Given the description of an element on the screen output the (x, y) to click on. 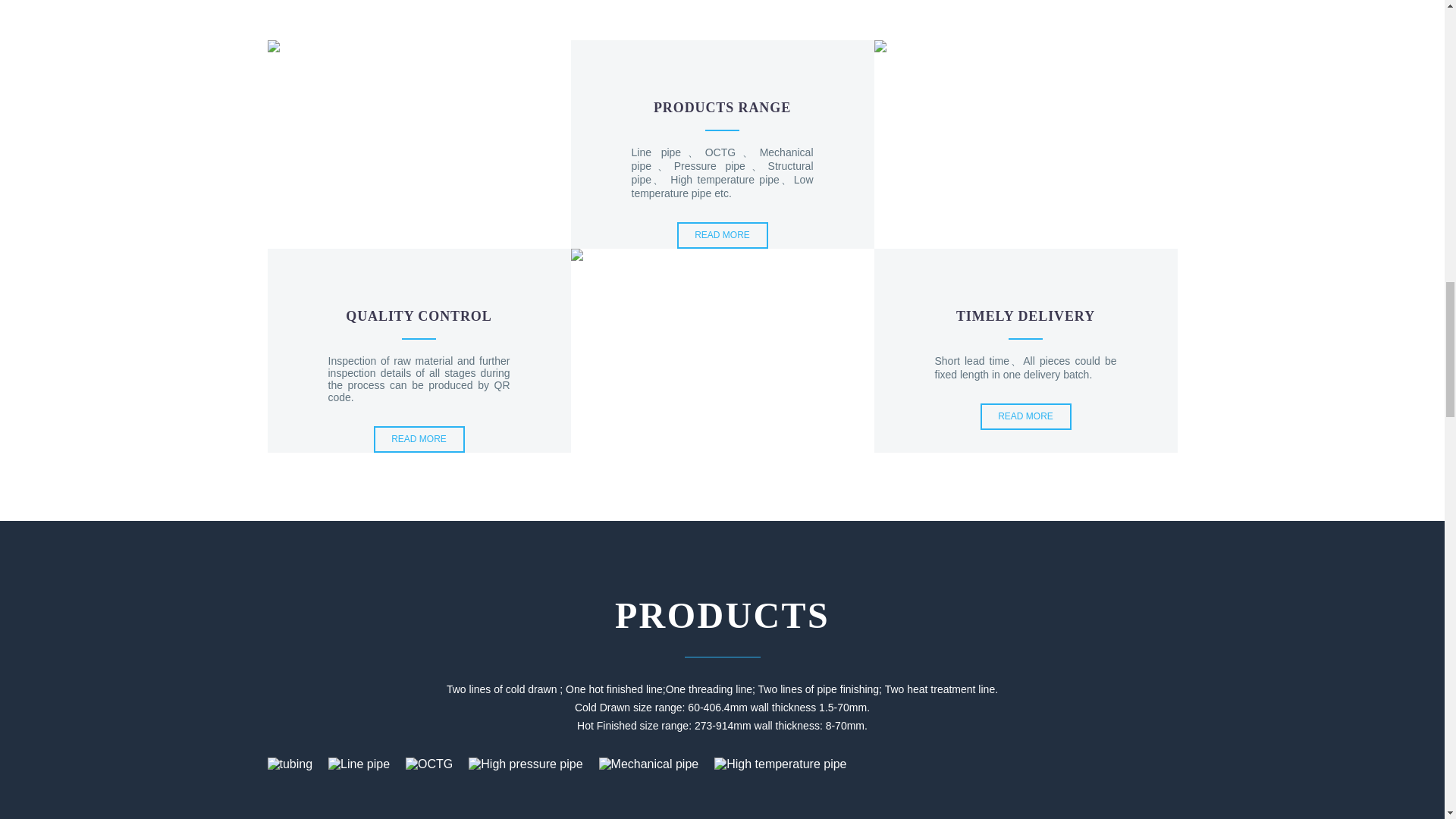
READ MORE (722, 234)
READ MORE (418, 438)
READ MORE (1024, 416)
